Given the description of an element on the screen output the (x, y) to click on. 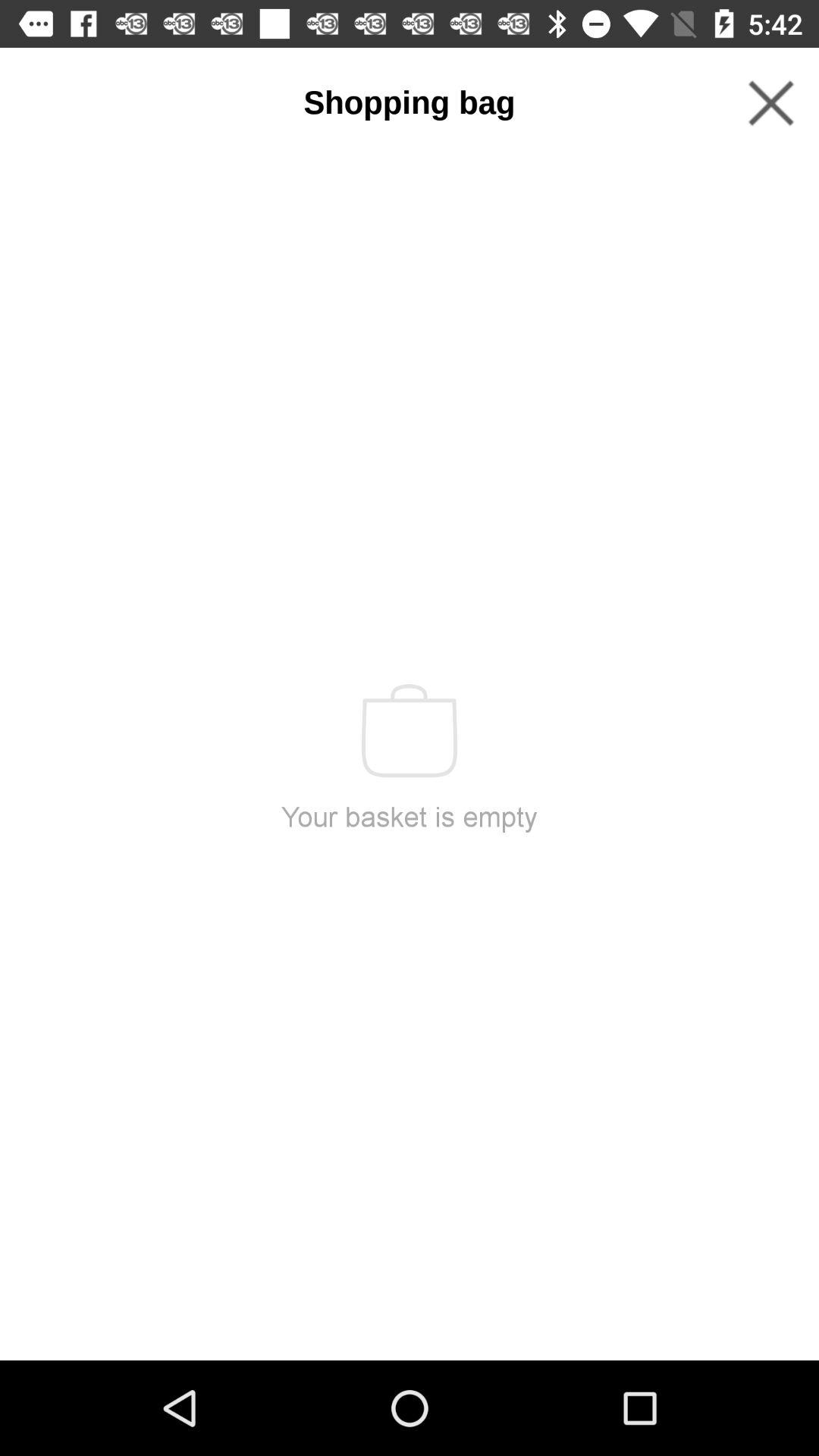
turn off item next to the shopping bag icon (771, 103)
